Given the description of an element on the screen output the (x, y) to click on. 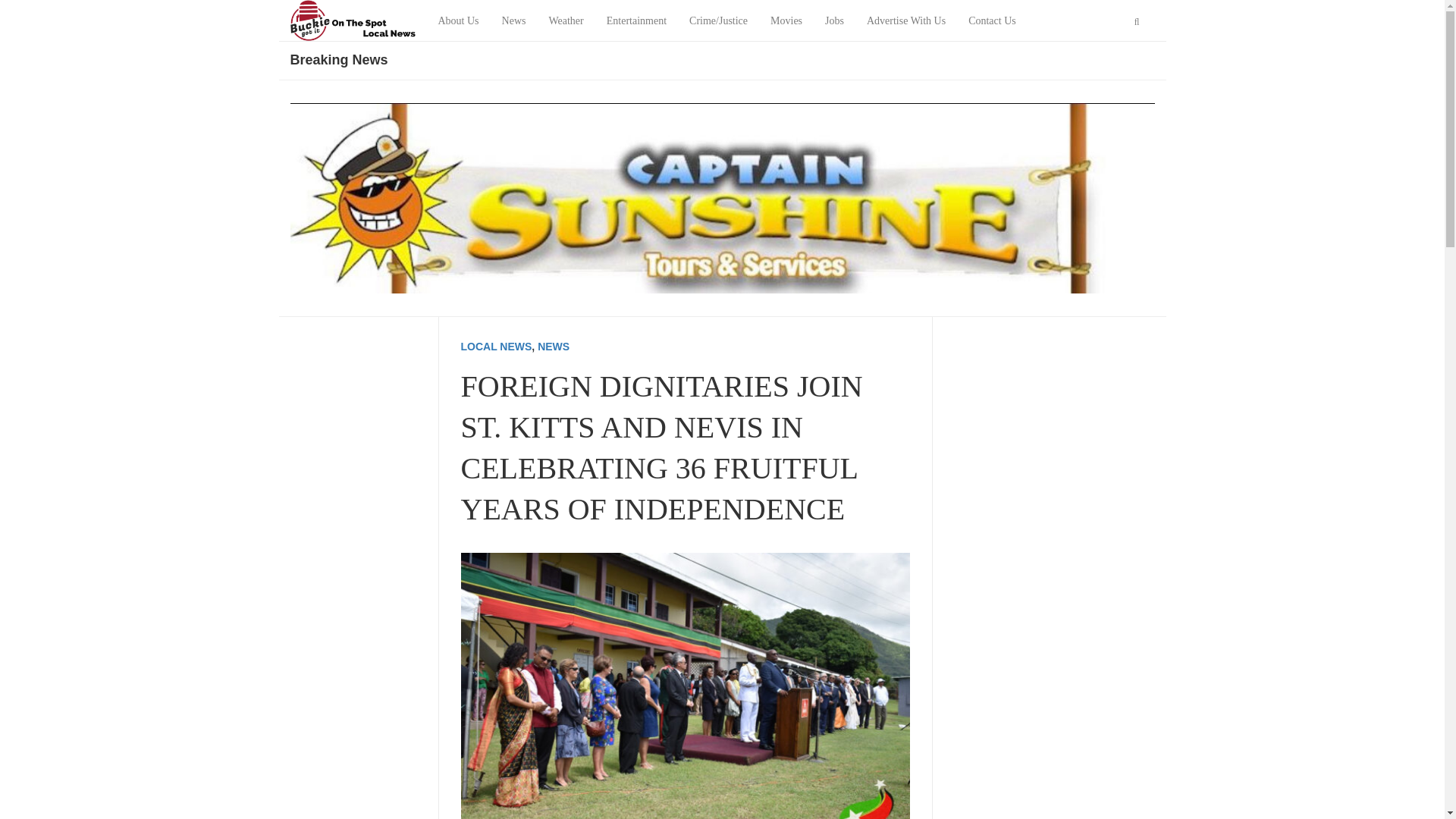
About Us (458, 20)
About Us (458, 20)
Advertise With Us (905, 20)
Entertainment (636, 20)
Entertainment (636, 20)
Advertise With Us (905, 20)
Contact Us (992, 20)
Contact Us (992, 20)
NEWS (553, 346)
LOCAL NEWS (496, 346)
